Given the description of an element on the screen output the (x, y) to click on. 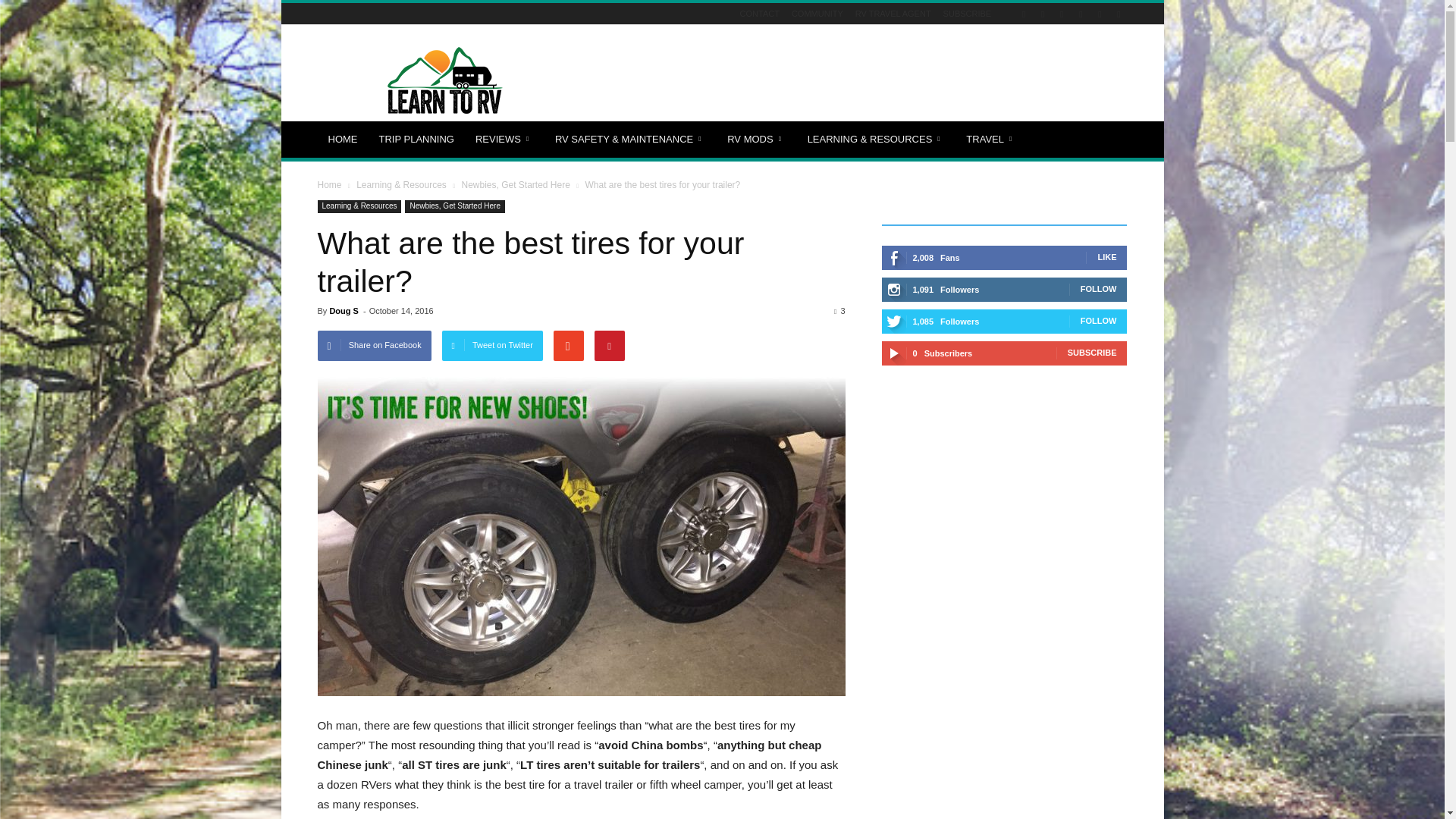
RSS (1080, 13)
COMMUNITY (817, 13)
CONTACT (758, 13)
Advertisement (850, 79)
Instagram (1042, 13)
HOME (342, 139)
Twitter (1099, 13)
Pinterest (1061, 13)
TRIP PLANNING (416, 139)
SUBSCRIBE (967, 13)
Facebook (1023, 13)
RV TRAVEL AGENT (893, 13)
Youtube (1117, 13)
